Given the description of an element on the screen output the (x, y) to click on. 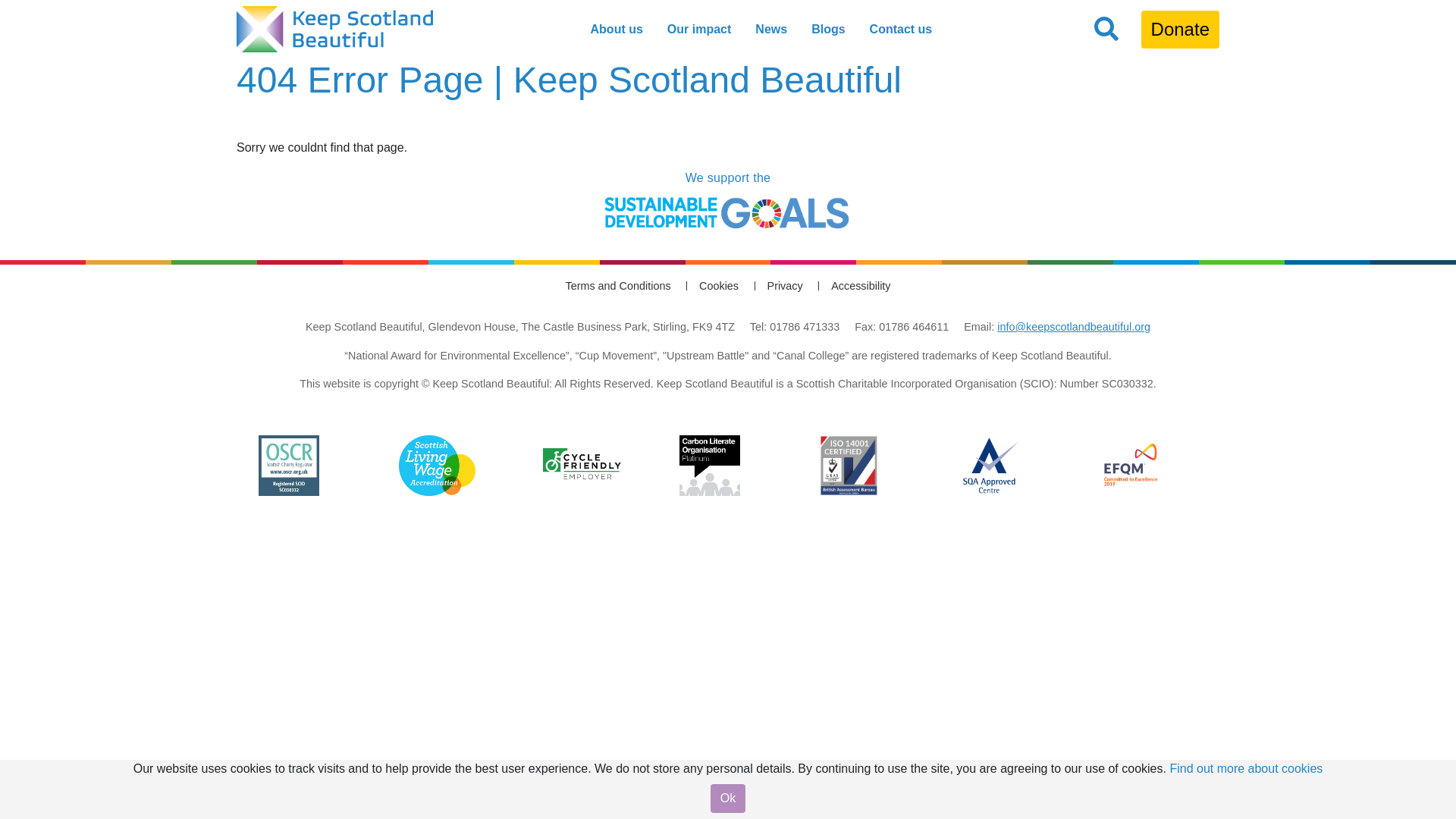
About us (617, 29)
News (771, 29)
Donate (1180, 29)
Cookies (718, 285)
Blogs (827, 29)
Contact us (901, 29)
Privacy (785, 285)
Terms and Conditions (616, 285)
Our impact (698, 29)
Donate (1180, 29)
Accessibility (860, 285)
